Given the description of an element on the screen output the (x, y) to click on. 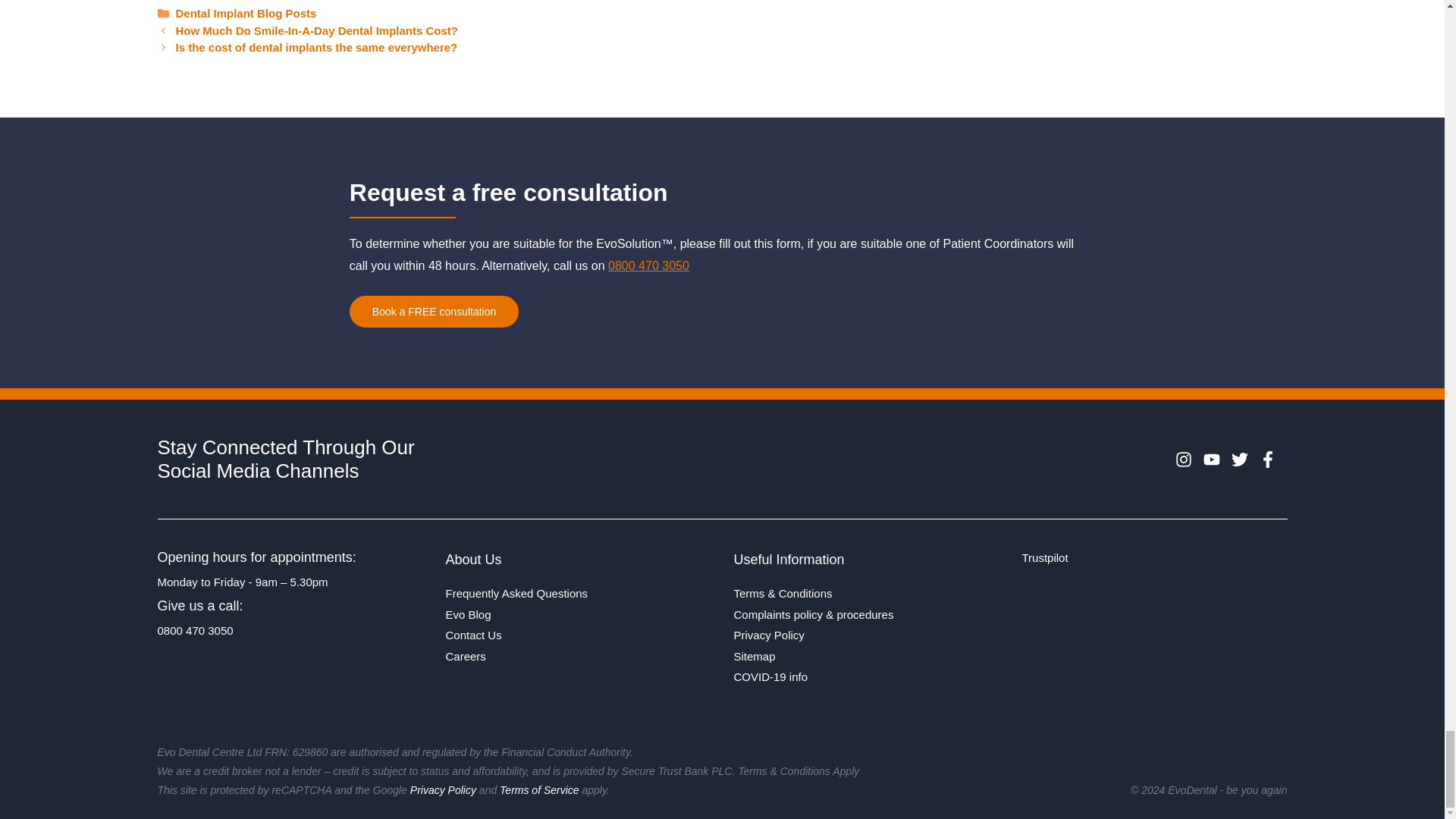
Click to Call: 0800 470 3050 (194, 630)
Click to Call:0800 470 3050 (648, 265)
